Given the description of an element on the screen output the (x, y) to click on. 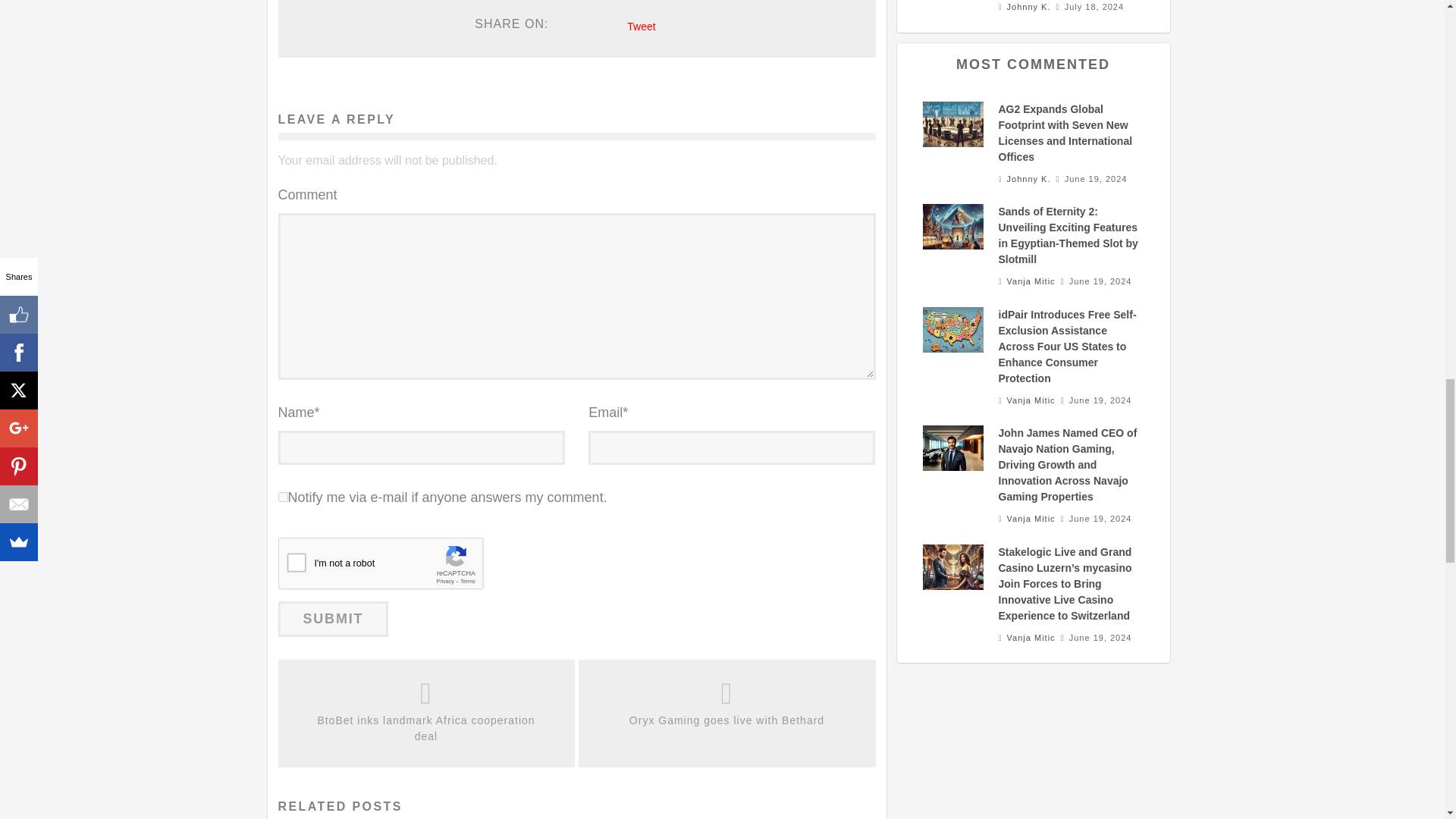
Submit (333, 619)
on (282, 497)
